Given the description of an element on the screen output the (x, y) to click on. 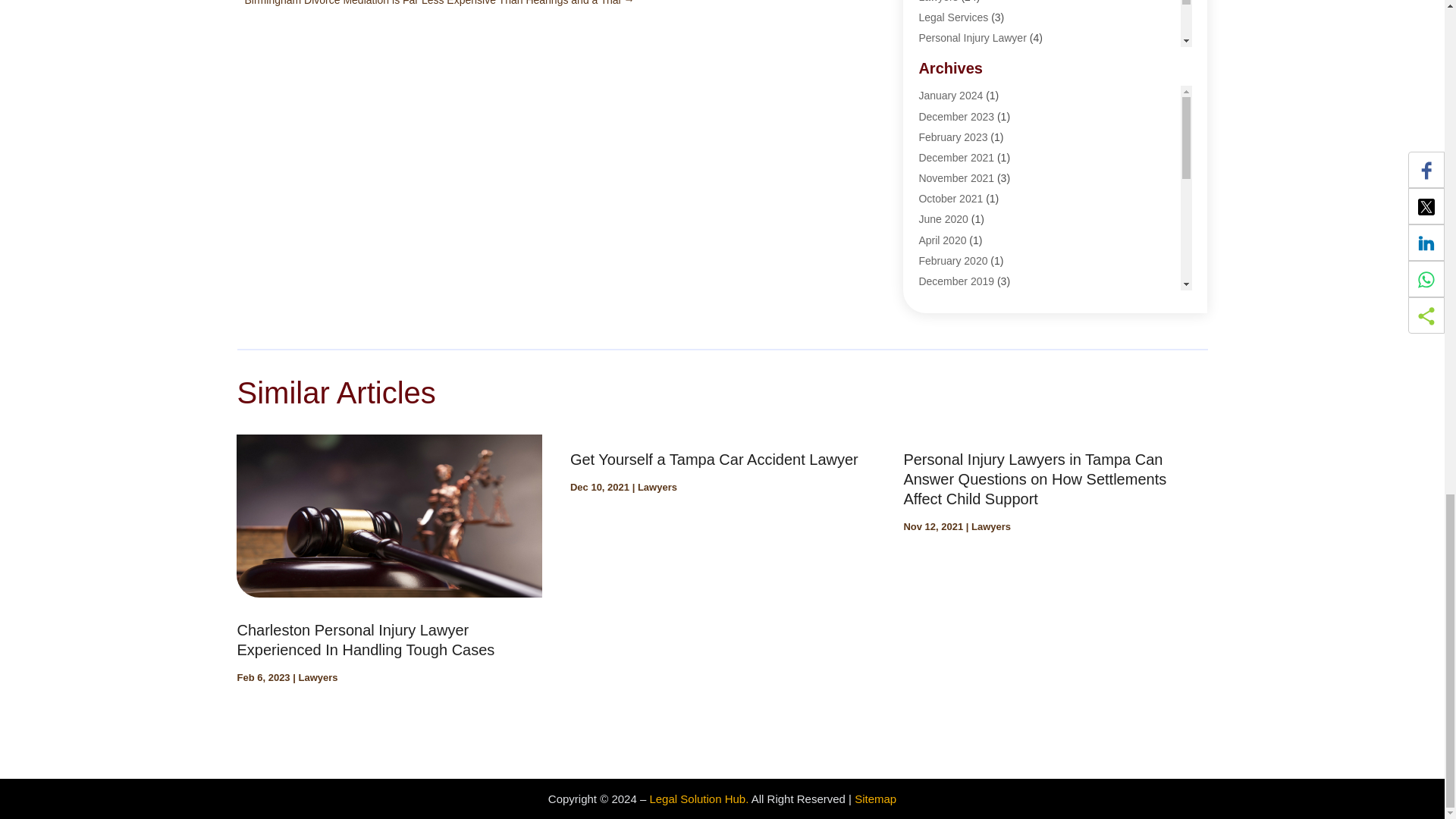
Wrongful Death (954, 78)
Personal Injury Lawyer (972, 37)
December 2023 (956, 116)
January 2024 (950, 95)
Virtual Law Office (959, 58)
Legal Services (953, 17)
Lawyers (938, 1)
February 2023 (952, 137)
